Given the description of an element on the screen output the (x, y) to click on. 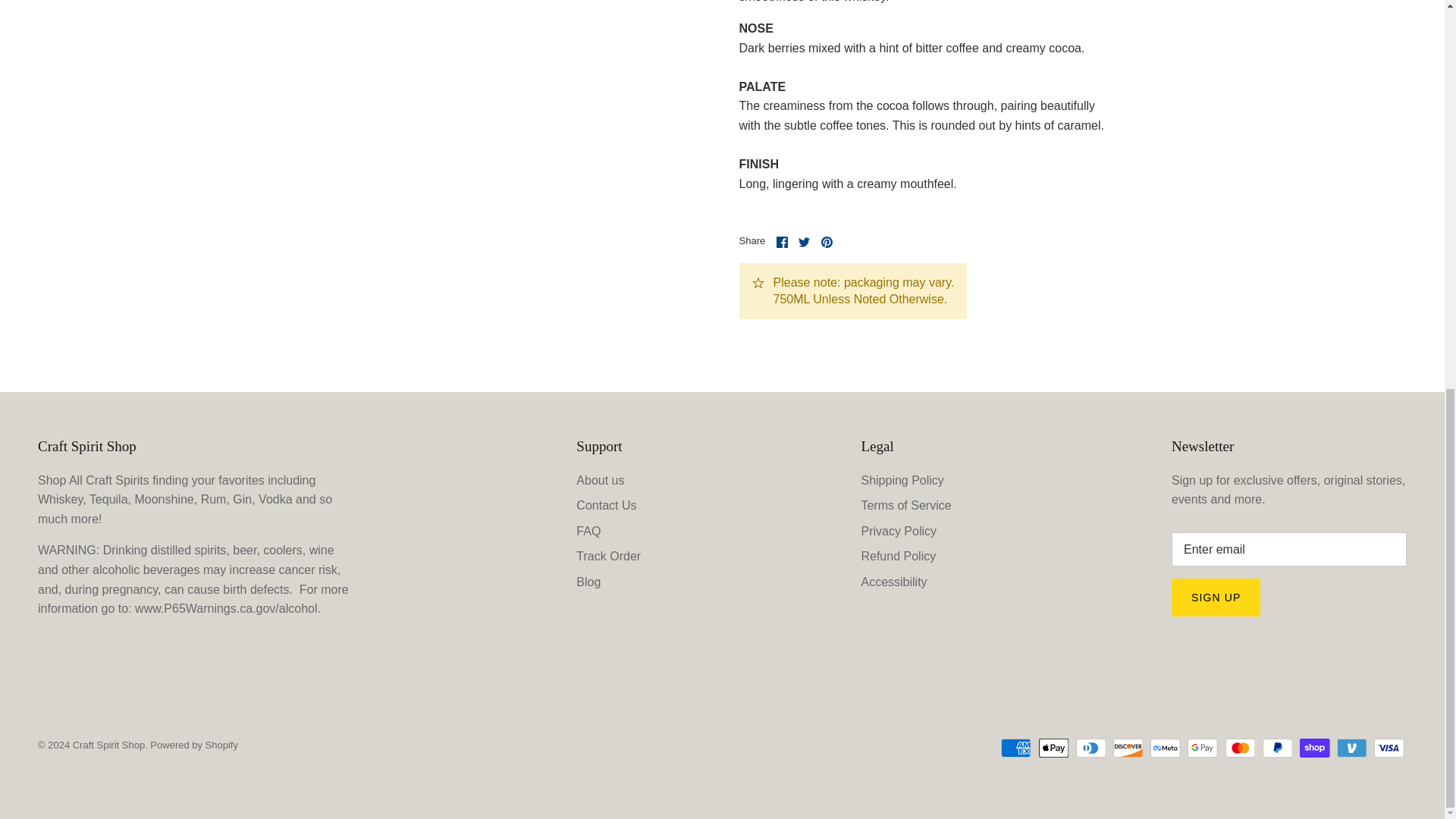
Apple Pay (1053, 747)
American Express (1015, 747)
PayPal (1277, 747)
Shop Pay (1314, 747)
Venmo (1351, 747)
WARNING: Drinking (227, 608)
Google Pay (1202, 747)
Facebook (781, 242)
Discover (1127, 747)
Diners Club (1090, 747)
